Given the description of an element on the screen output the (x, y) to click on. 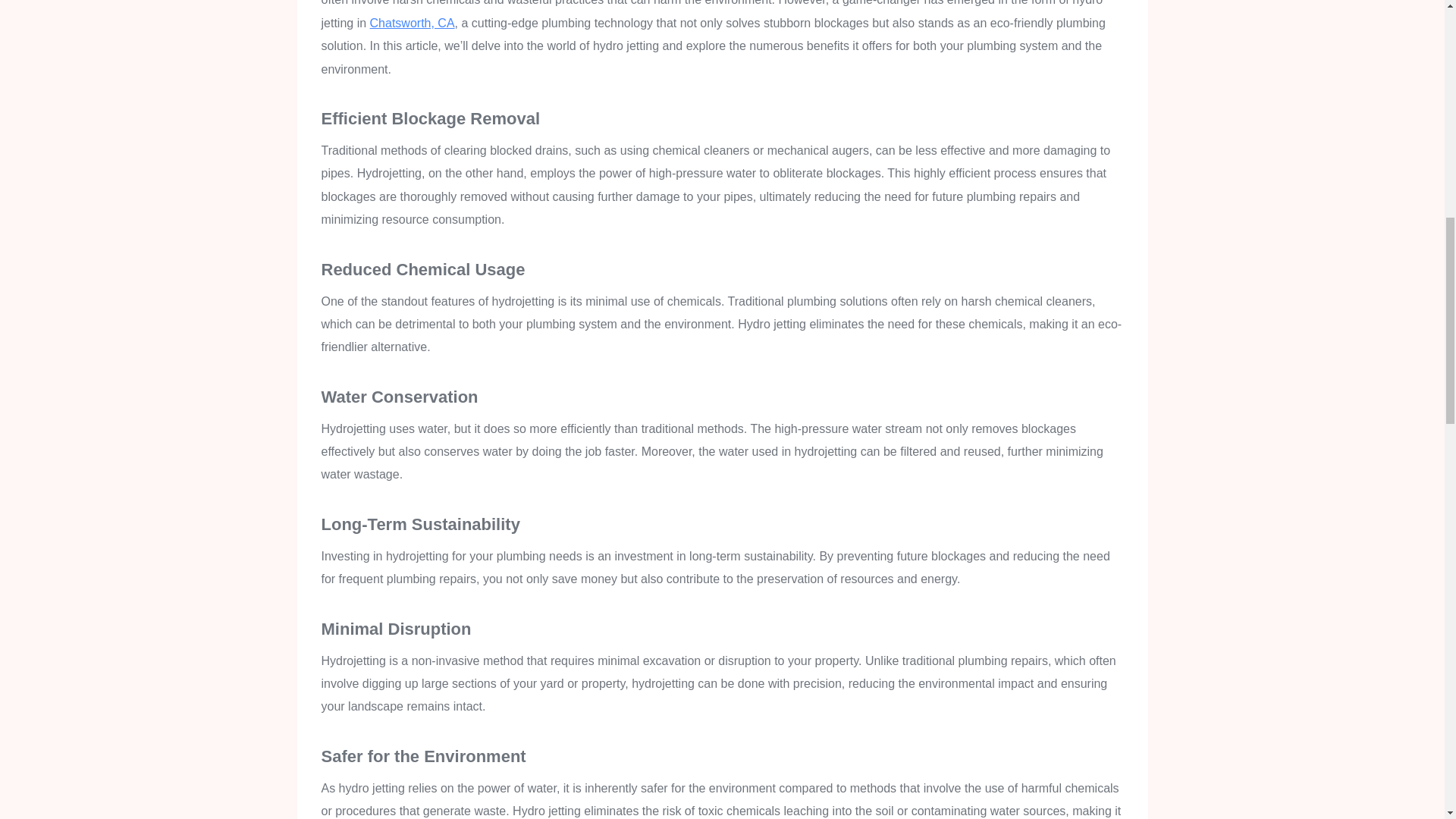
Chatsworth, CA (411, 22)
